Given the description of an element on the screen output the (x, y) to click on. 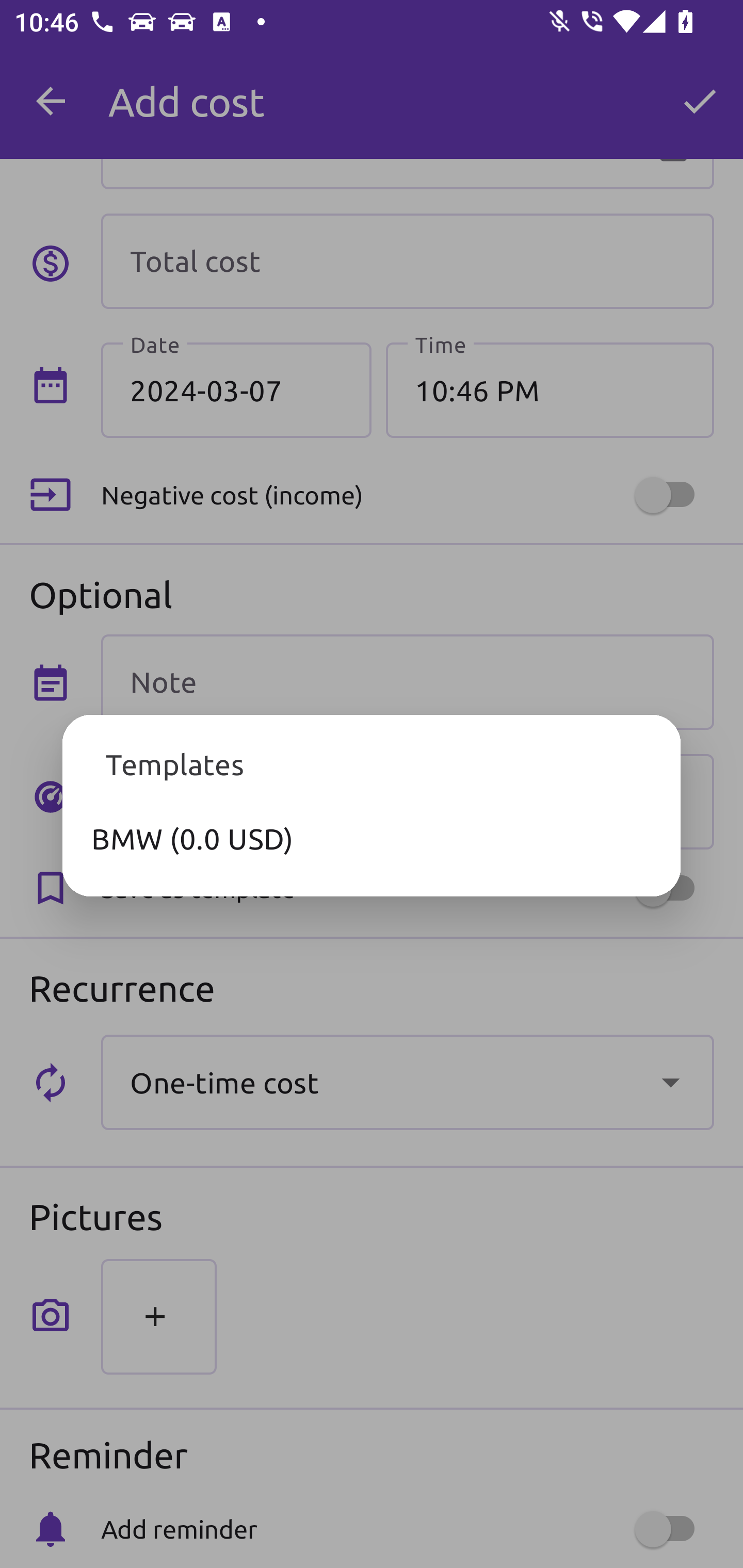
BMW (0.0 USD) (371, 837)
